Given the description of an element on the screen output the (x, y) to click on. 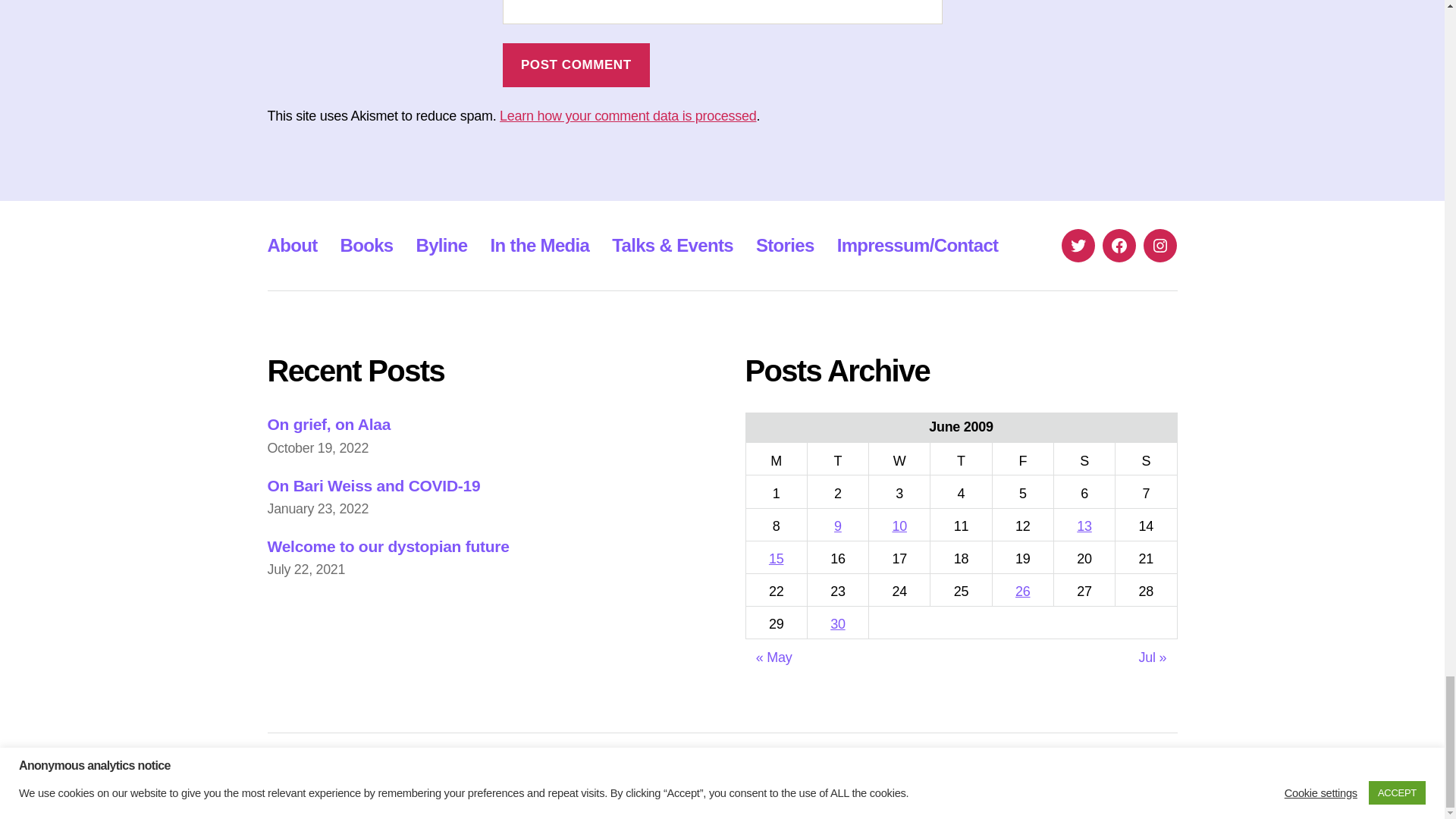
Post Comment (575, 65)
Saturday (1083, 459)
Monday (775, 459)
Sunday (1145, 459)
Wednesday (899, 459)
Friday (1021, 459)
Thursday (960, 459)
Twitter (1077, 245)
Tuesday (836, 459)
